Given the description of an element on the screen output the (x, y) to click on. 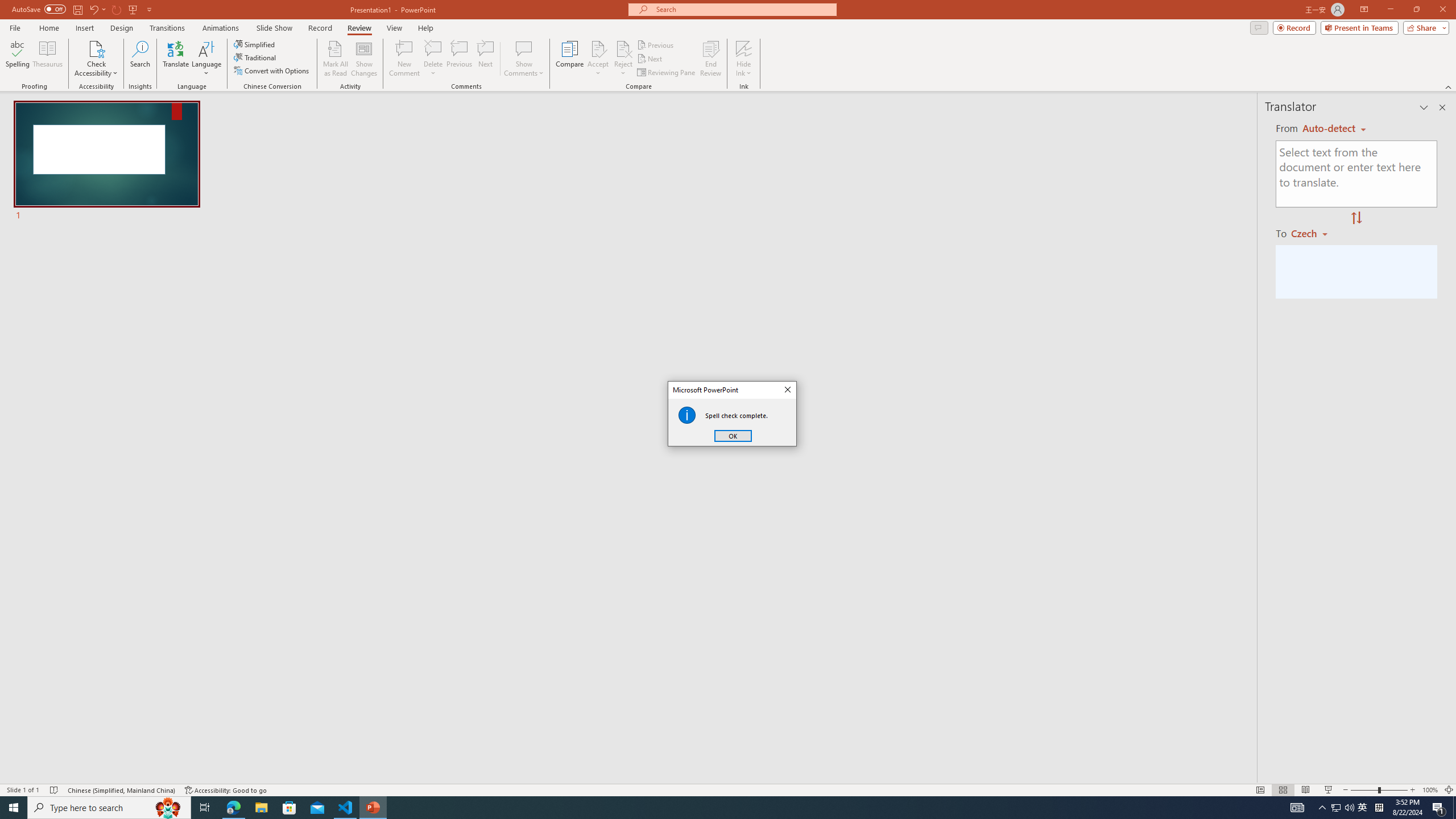
Convert with Options... (272, 69)
Reject (622, 58)
Traditional (255, 56)
End Review (710, 58)
